Given the description of an element on the screen output the (x, y) to click on. 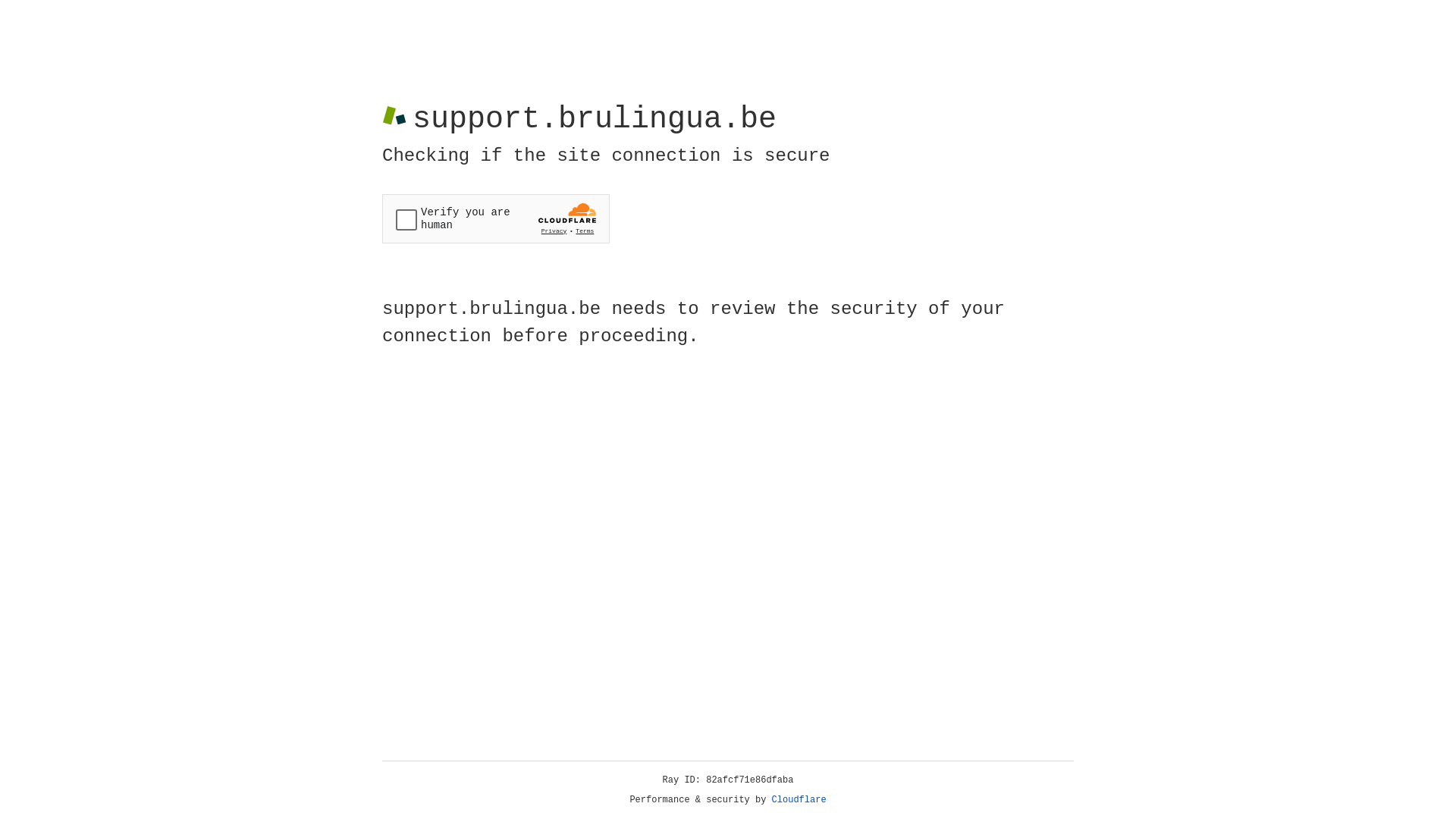
Cloudflare Element type: text (798, 799)
Widget containing a Cloudflare security challenge Element type: hover (495, 218)
